Given the description of an element on the screen output the (x, y) to click on. 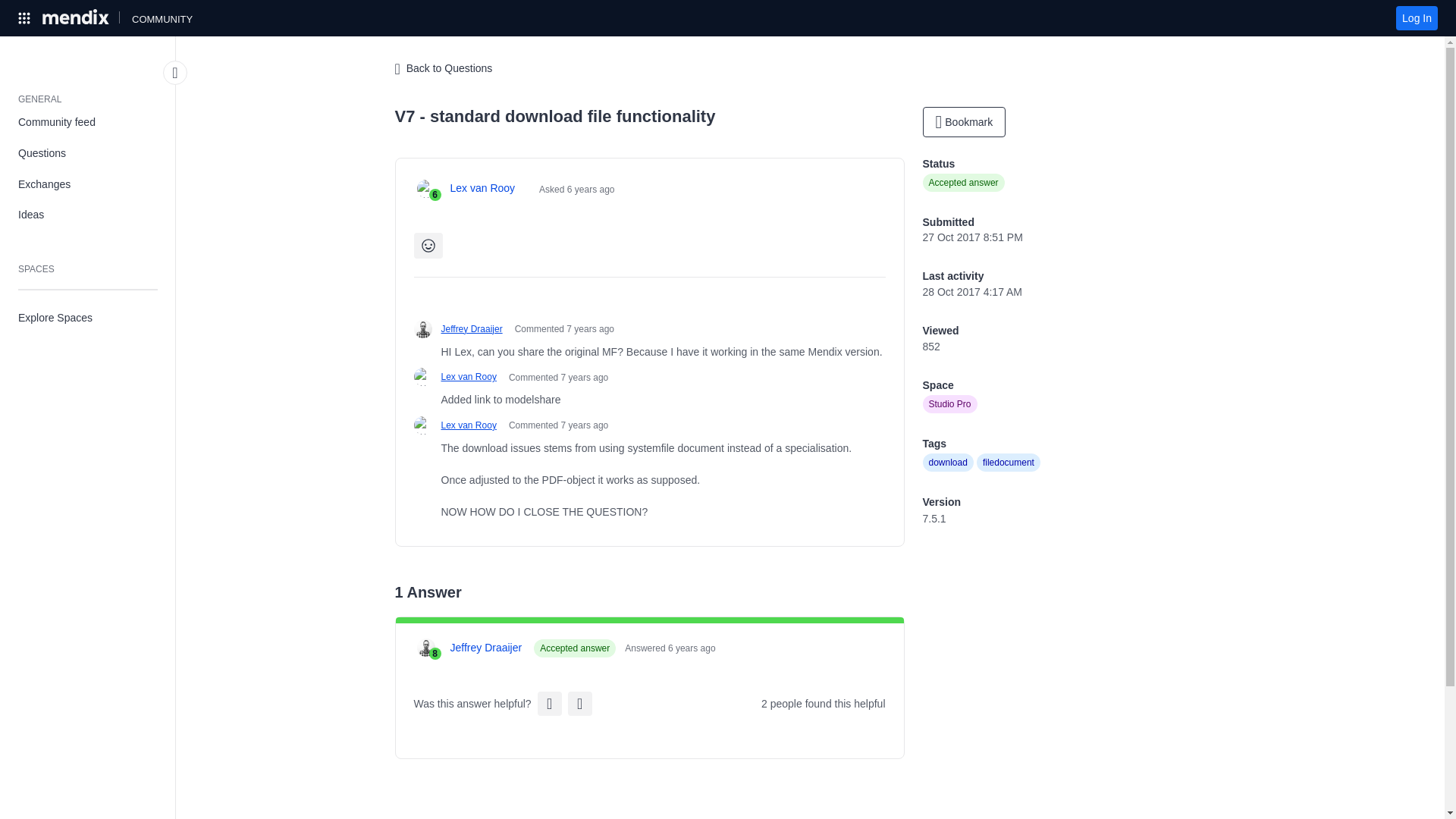
Community (161, 17)
Navigate to Portal Home (77, 18)
Explore Spaces (87, 317)
Studio Pro (948, 403)
Questions (87, 153)
Open Global Navigation (23, 17)
Collapse Menu (175, 72)
Jeffrey Draaijer (471, 328)
Jeffrey Draaijer (485, 647)
Navigate to Community home page (161, 17)
Bookmark (963, 122)
Back to Questions (443, 68)
Lex van Rooy (482, 188)
Lex van Rooy (468, 377)
